Given the description of an element on the screen output the (x, y) to click on. 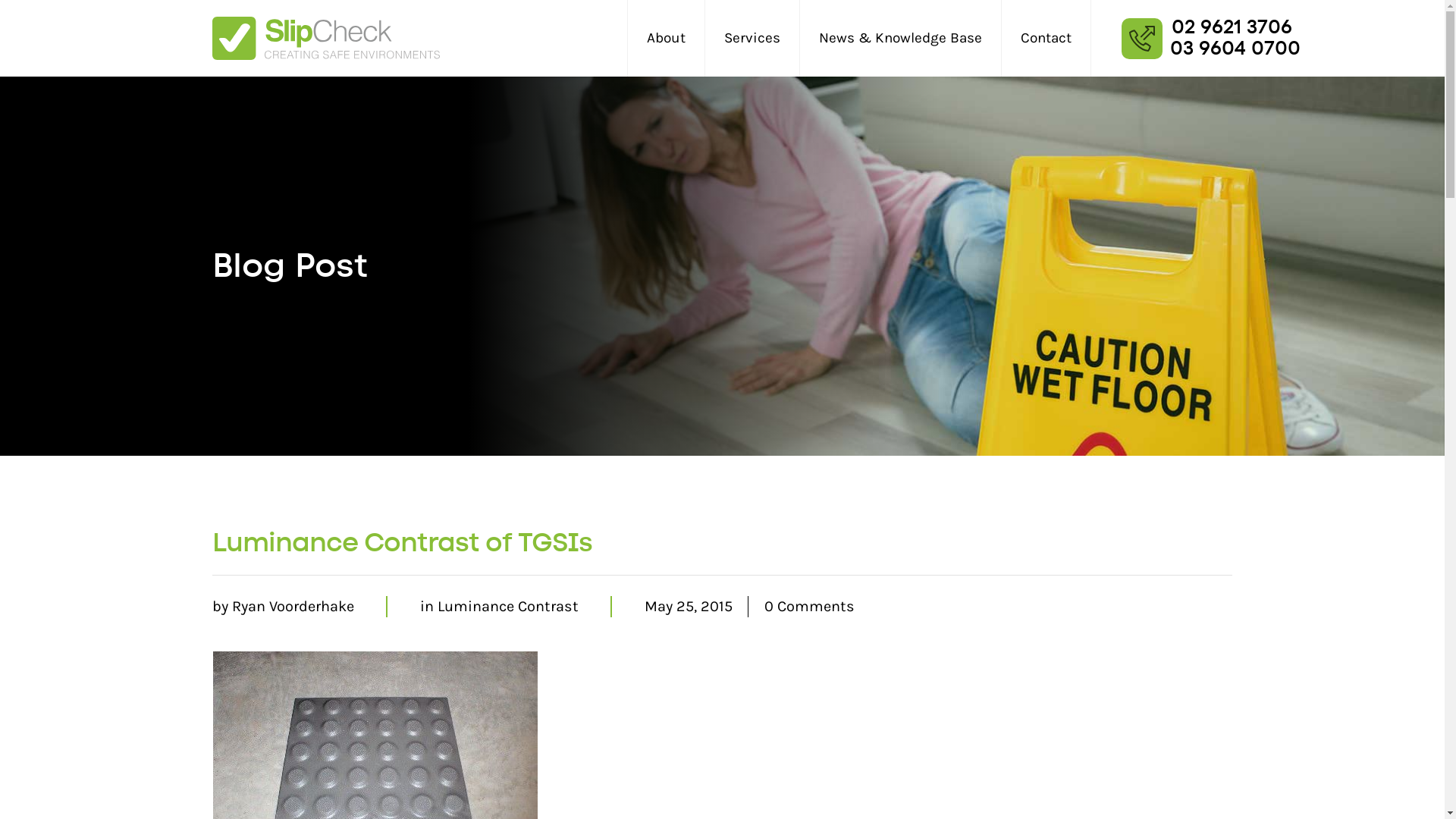
03 9604 0700 Element type: text (1235, 48)
0 Comments Element type: text (809, 606)
News & Knowledge Base Element type: text (900, 38)
by Ryan Voorderhake Element type: text (283, 606)
About Element type: text (665, 38)
02 9621 3706 Element type: text (1230, 27)
Contact Element type: text (1045, 38)
SlipCheck Element type: hover (325, 37)
Services Element type: text (752, 38)
Luminance Contrast Element type: text (507, 606)
